Given the description of an element on the screen output the (x, y) to click on. 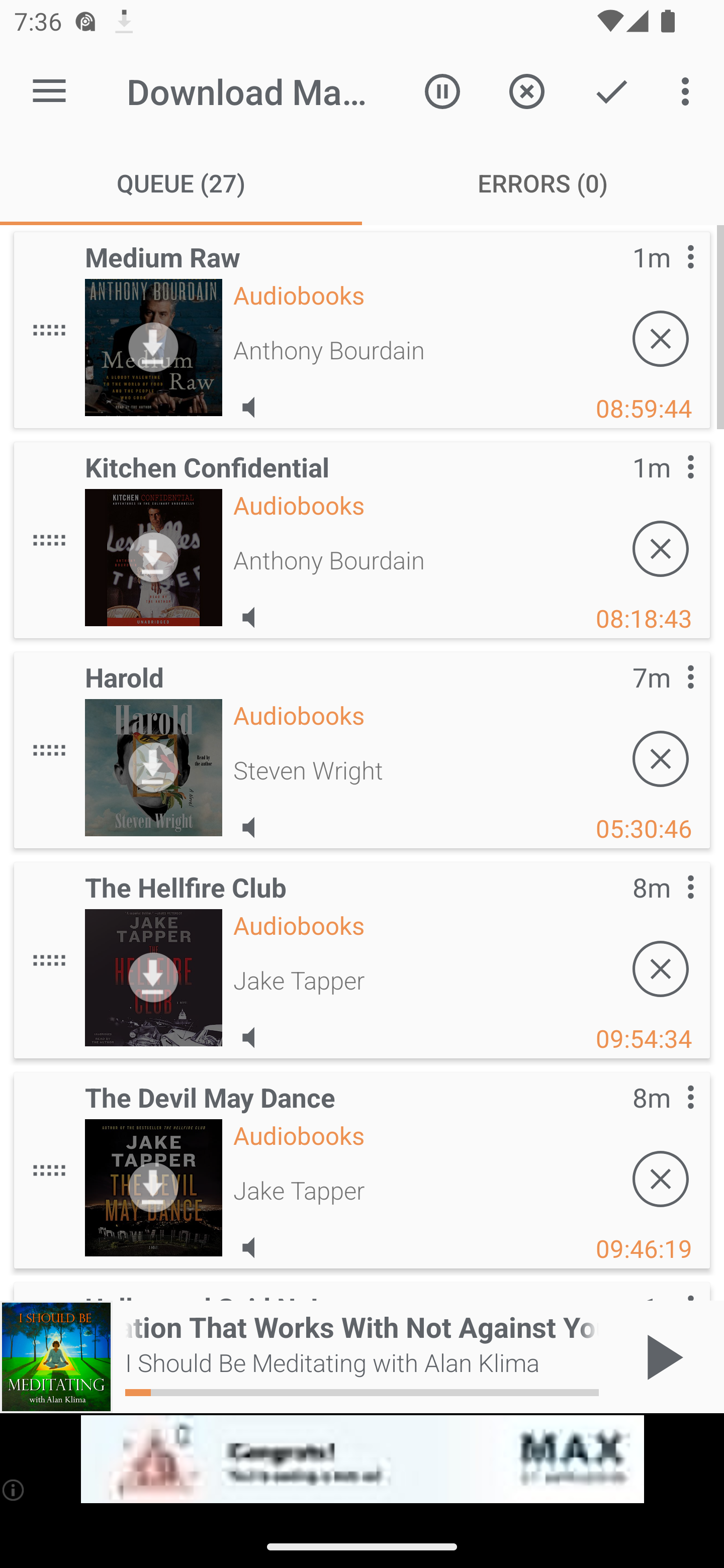
Open navigation sidebar (49, 91)
Pause downloads... (442, 90)
Cancel Downloads (526, 90)
Action Mode (611, 90)
More options (688, 90)
Errors (0) ERRORS (0) (543, 183)
Contextual menu (668, 276)
Medium Raw (153, 347)
Cancel download (660, 338)
Contextual menu (668, 486)
Kitchen Confidential (153, 557)
Cancel download (660, 548)
Contextual menu (668, 696)
Harold (153, 767)
Cancel download (660, 758)
Contextual menu (668, 906)
The Hellfire Club (153, 977)
Cancel download (660, 968)
Contextual menu (668, 1116)
The Devil May Dance (153, 1187)
Cancel download (660, 1178)
Play / Pause (660, 1356)
app-monetization (362, 1459)
(i) (14, 1489)
